Given the description of an element on the screen output the (x, y) to click on. 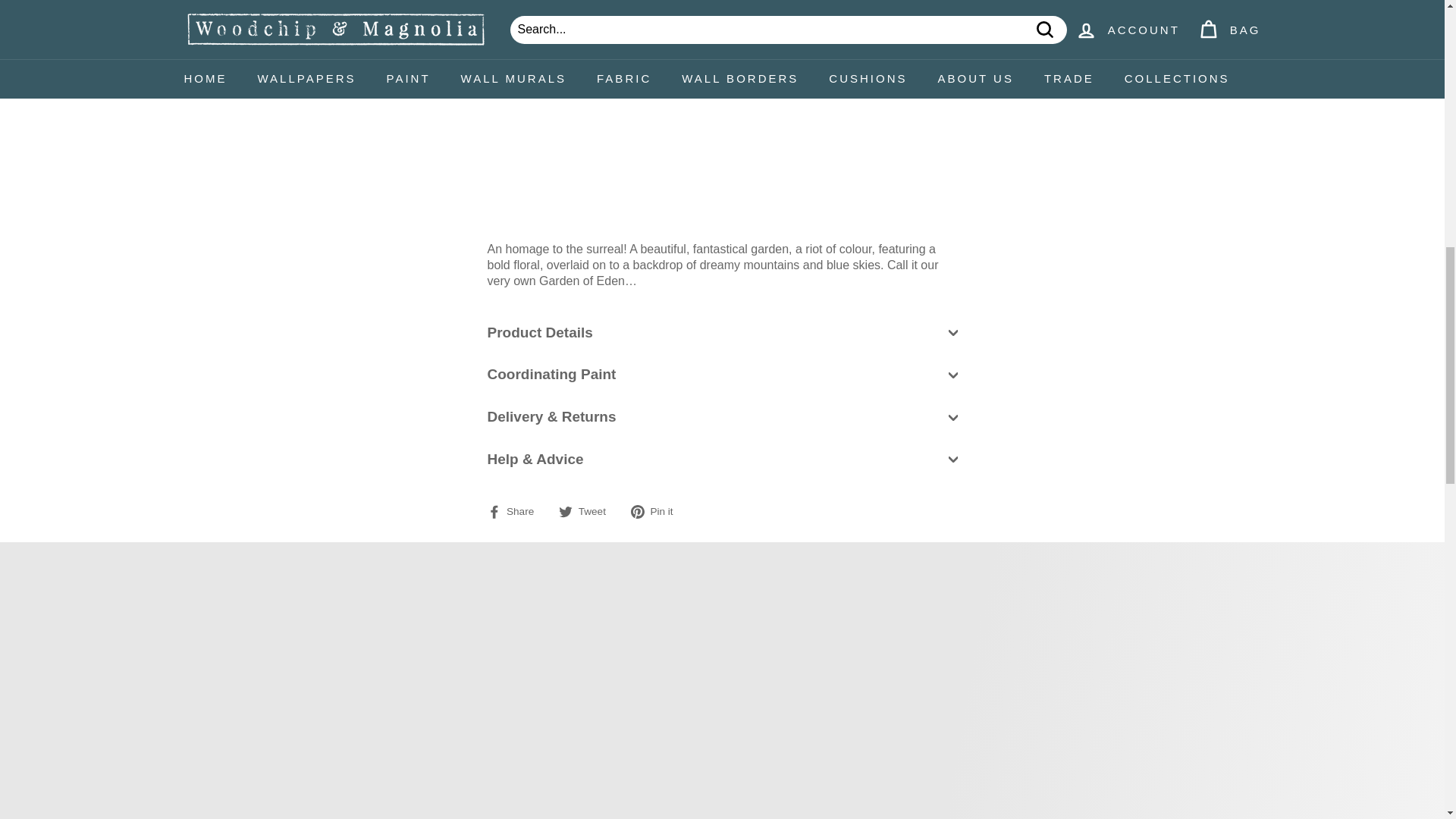
Share on Facebook (515, 512)
Tweet on Twitter (588, 512)
Pin on Pinterest (657, 512)
